Given the description of an element on the screen output the (x, y) to click on. 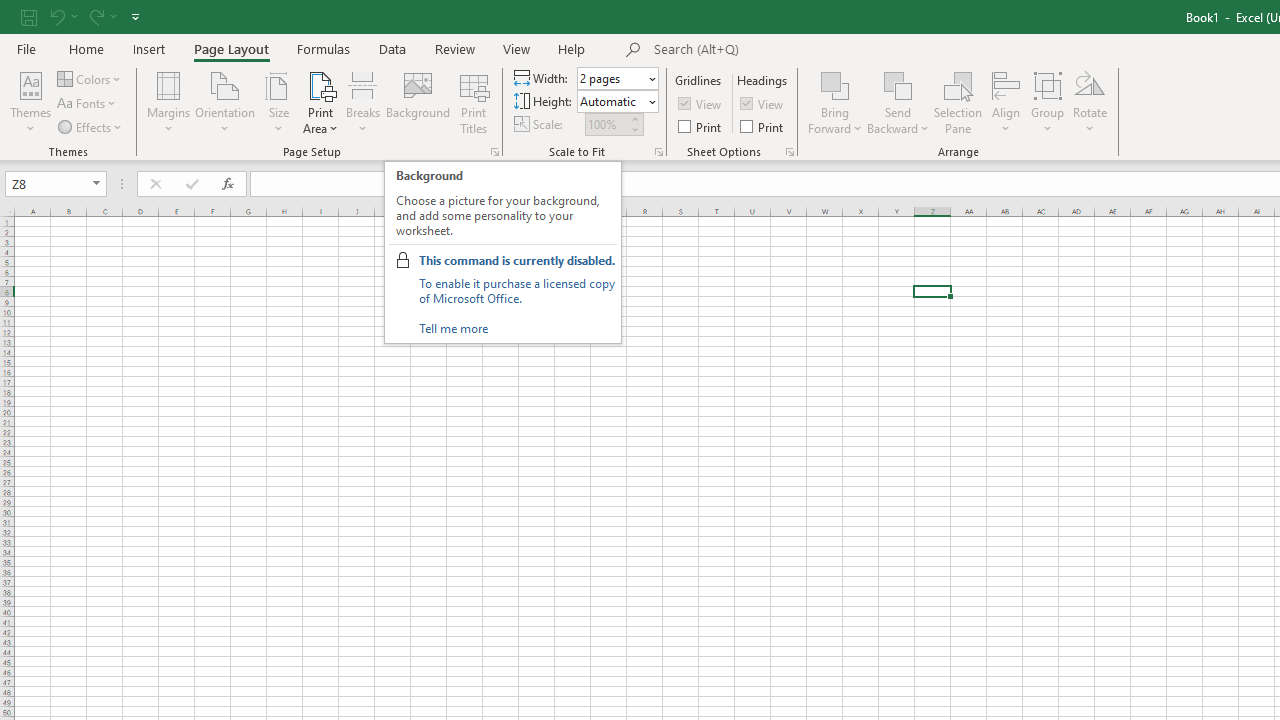
More (633, 118)
Orientation (225, 102)
Width (618, 78)
Bring Forward (835, 84)
Size (278, 102)
This command is currently disabled. (516, 260)
Selection Pane... (958, 102)
Background... (418, 102)
